Given the description of an element on the screen output the (x, y) to click on. 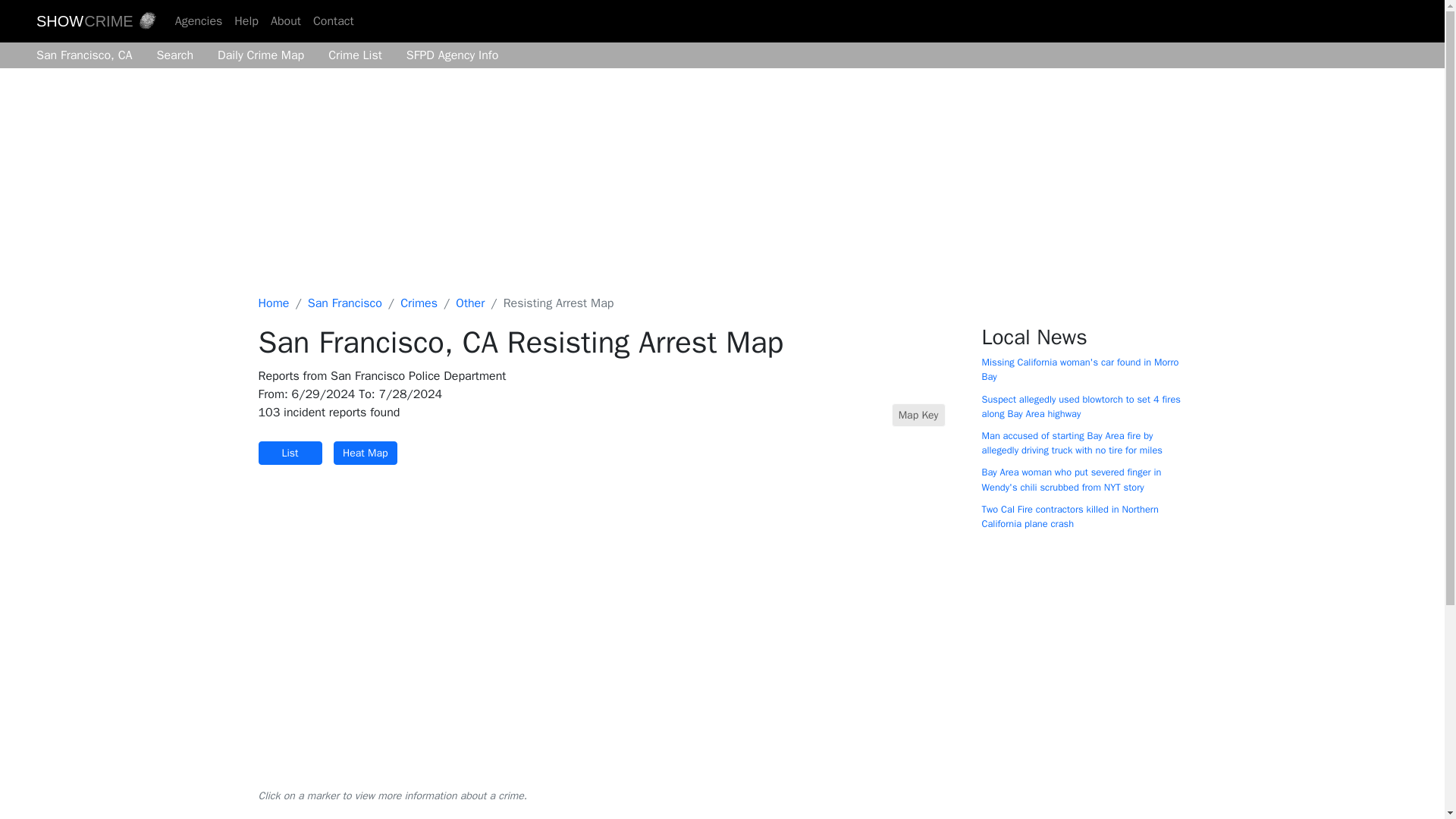
San Francisco (344, 303)
Daily Crime Map (260, 54)
Map Key (917, 414)
San Francisco, CA (88, 54)
Other (469, 303)
Crimes (419, 303)
San Francisco Police Department Information (447, 54)
Search (175, 54)
Other (469, 303)
SFPD Agency Info (447, 54)
List (289, 453)
Help (246, 20)
